Given the description of an element on the screen output the (x, y) to click on. 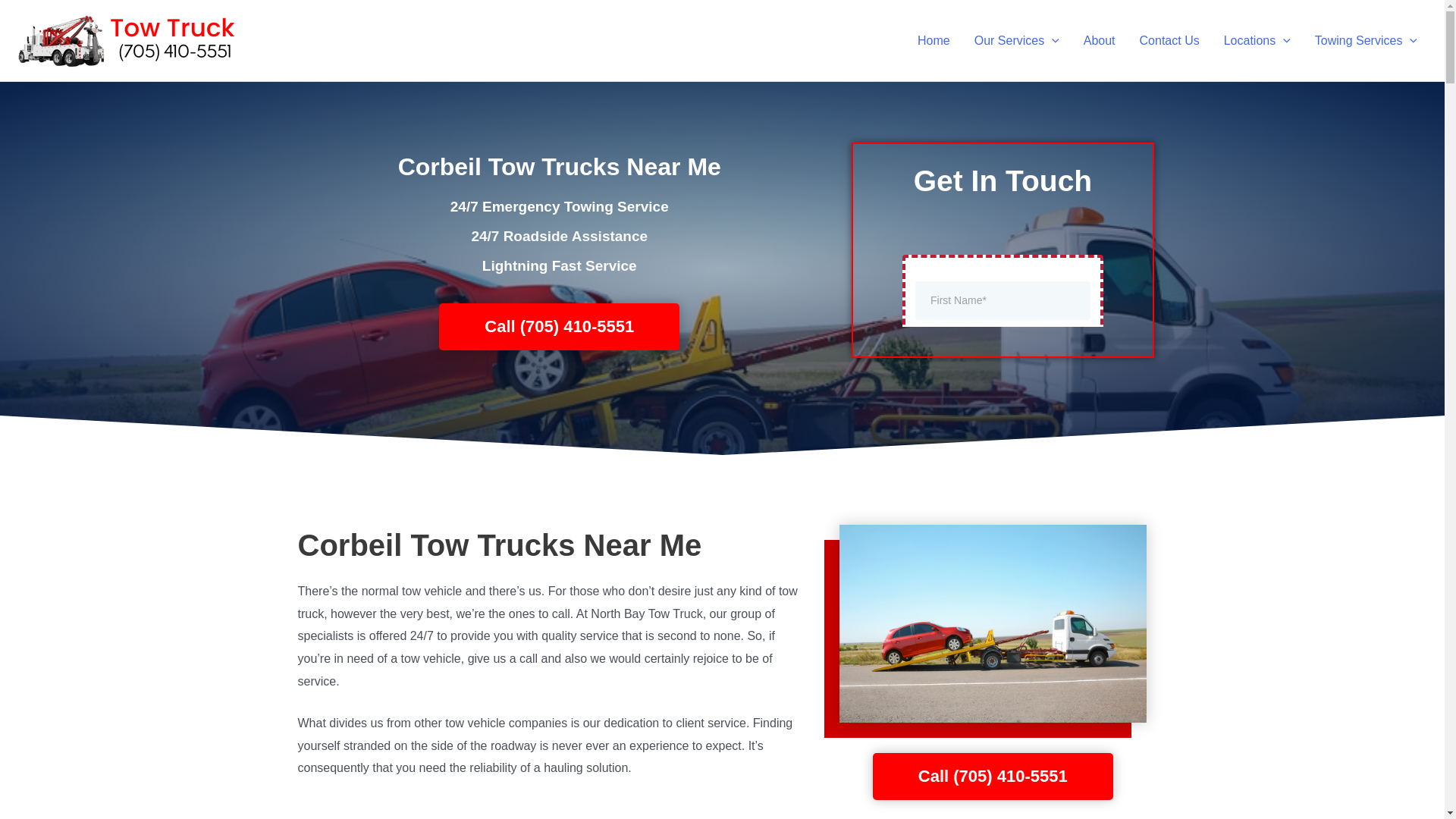
About (1098, 39)
Towing Services (1366, 39)
Home (933, 39)
Contact Us (1168, 39)
Our Services (1016, 39)
Locations (1257, 39)
